Given the description of an element on the screen output the (x, y) to click on. 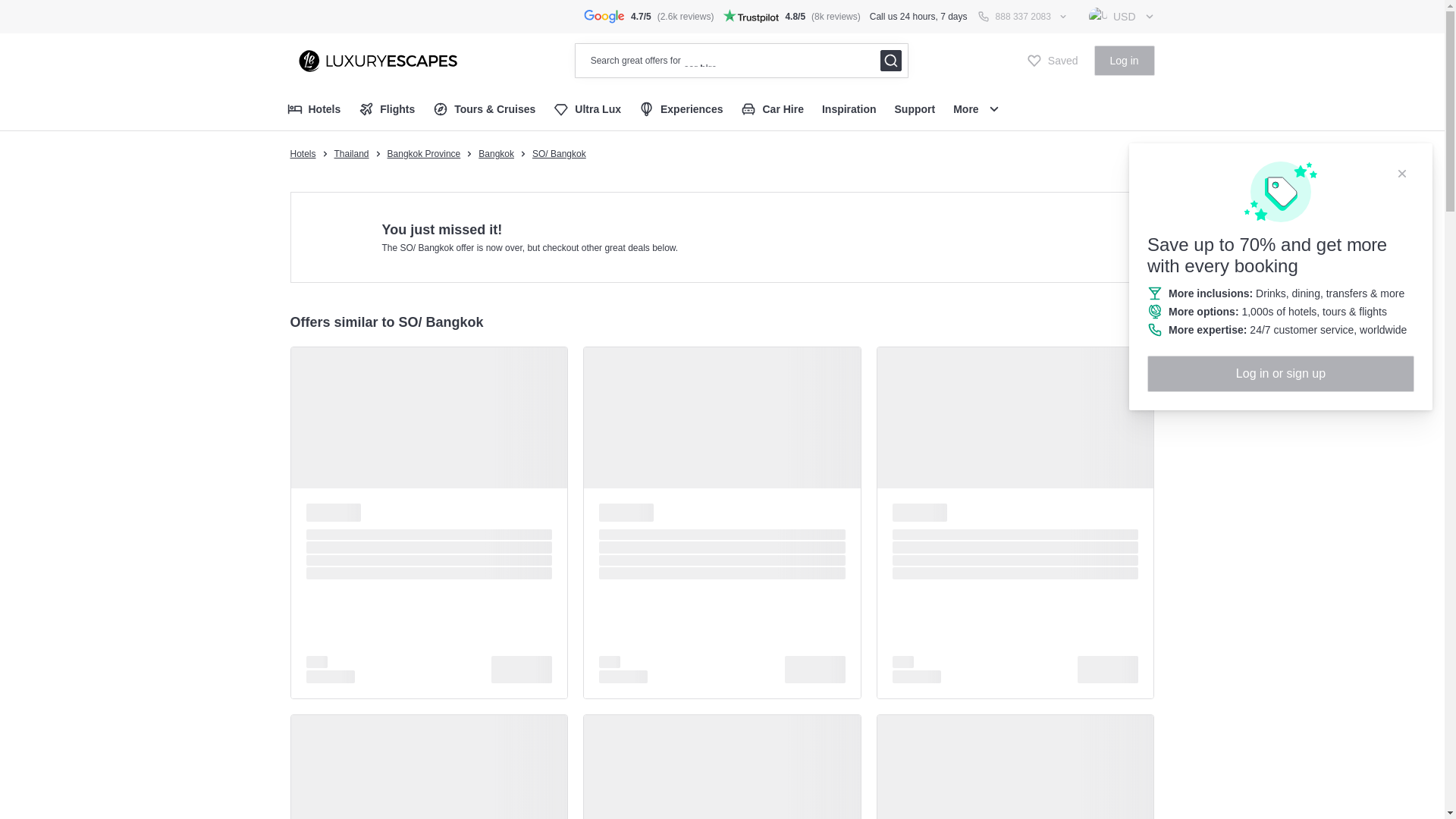
Bangkok Province (424, 153)
888 337 2083 (1023, 16)
Luxury Escapes (373, 59)
USD (1122, 16)
Hotels (302, 153)
Bangkok (496, 153)
Thailand (351, 153)
